Given the description of an element on the screen output the (x, y) to click on. 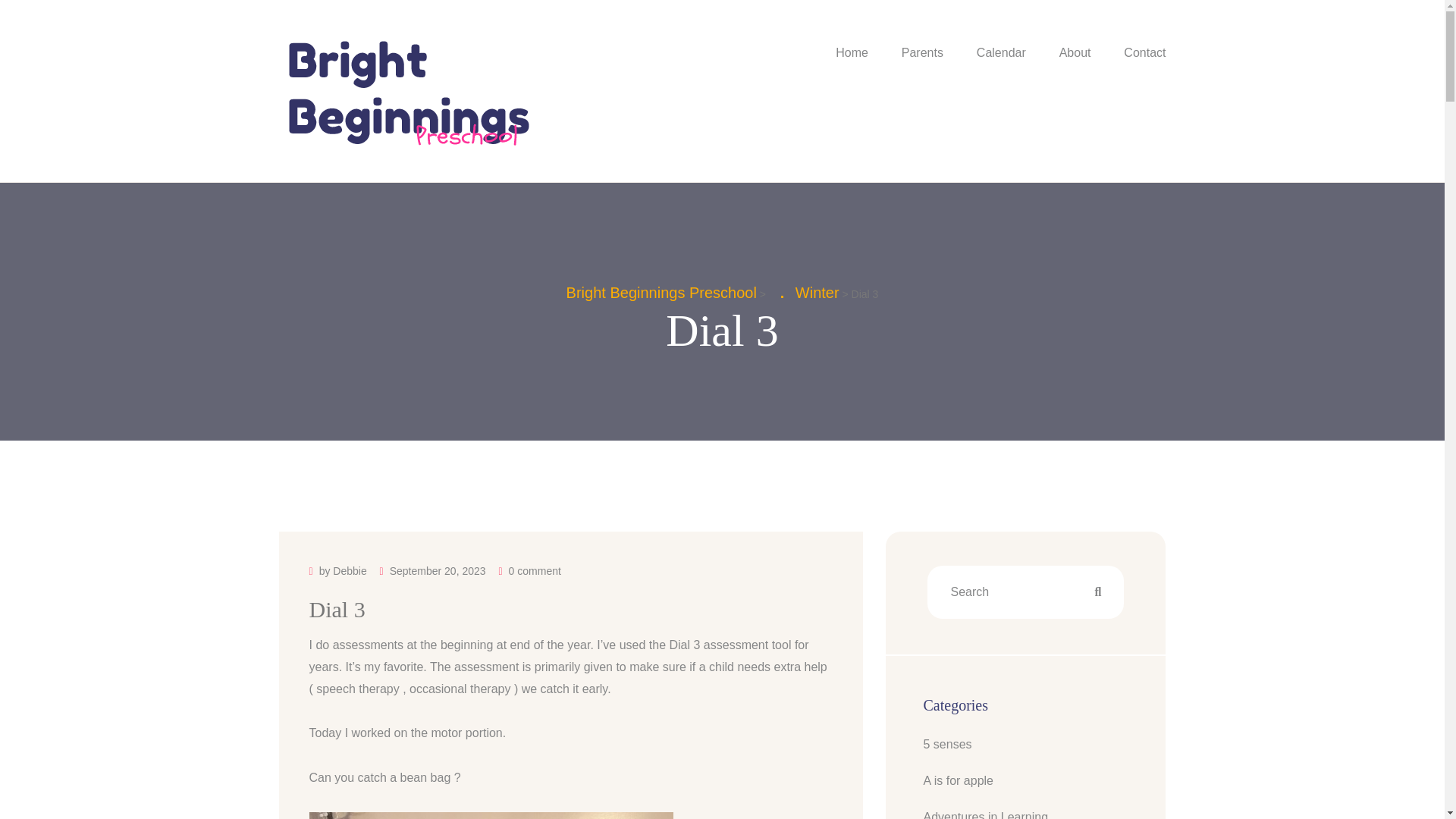
0 comment (534, 570)
Contact (1145, 52)
Parents (922, 52)
Calendar (1001, 52)
About (1074, 52)
Bright Beginnings Preschool (409, 91)
Home (851, 52)
Winter (817, 292)
Calendar (1001, 52)
Debbie (349, 570)
A is for apple (958, 781)
About (1074, 52)
Adventures in Learning (985, 813)
Home (851, 52)
Bright Beginnings Preschool (661, 292)
